Given the description of an element on the screen output the (x, y) to click on. 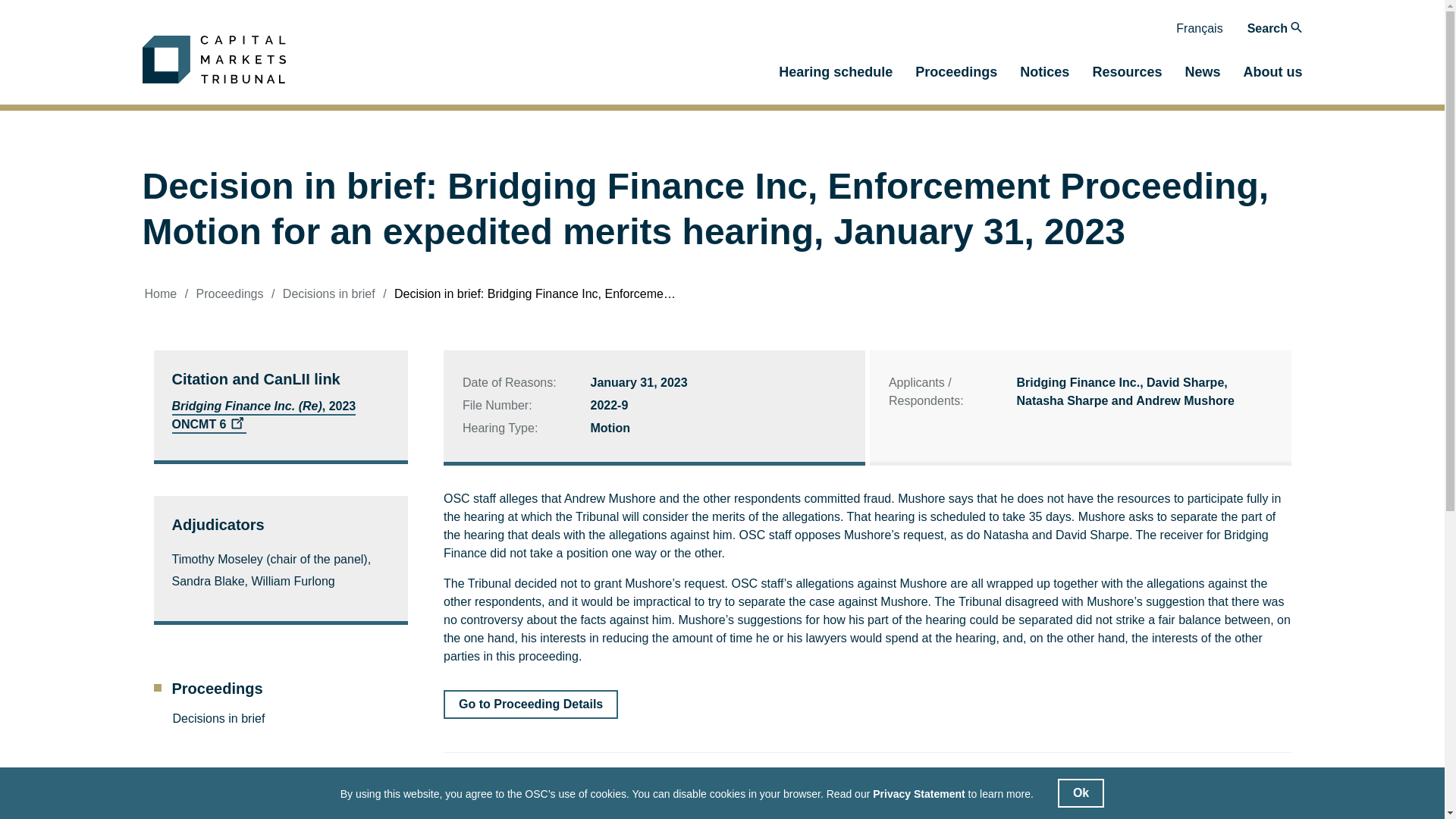
Decisions in brief (328, 293)
Next related Decision in brief (1198, 787)
Resources (1126, 75)
Proceedings (229, 293)
Privacy Statement (917, 795)
Proceedings (956, 75)
Proceedings (279, 688)
Search (1275, 28)
Notices (1044, 75)
Hearing schedule (835, 75)
